Given the description of an element on the screen output the (x, y) to click on. 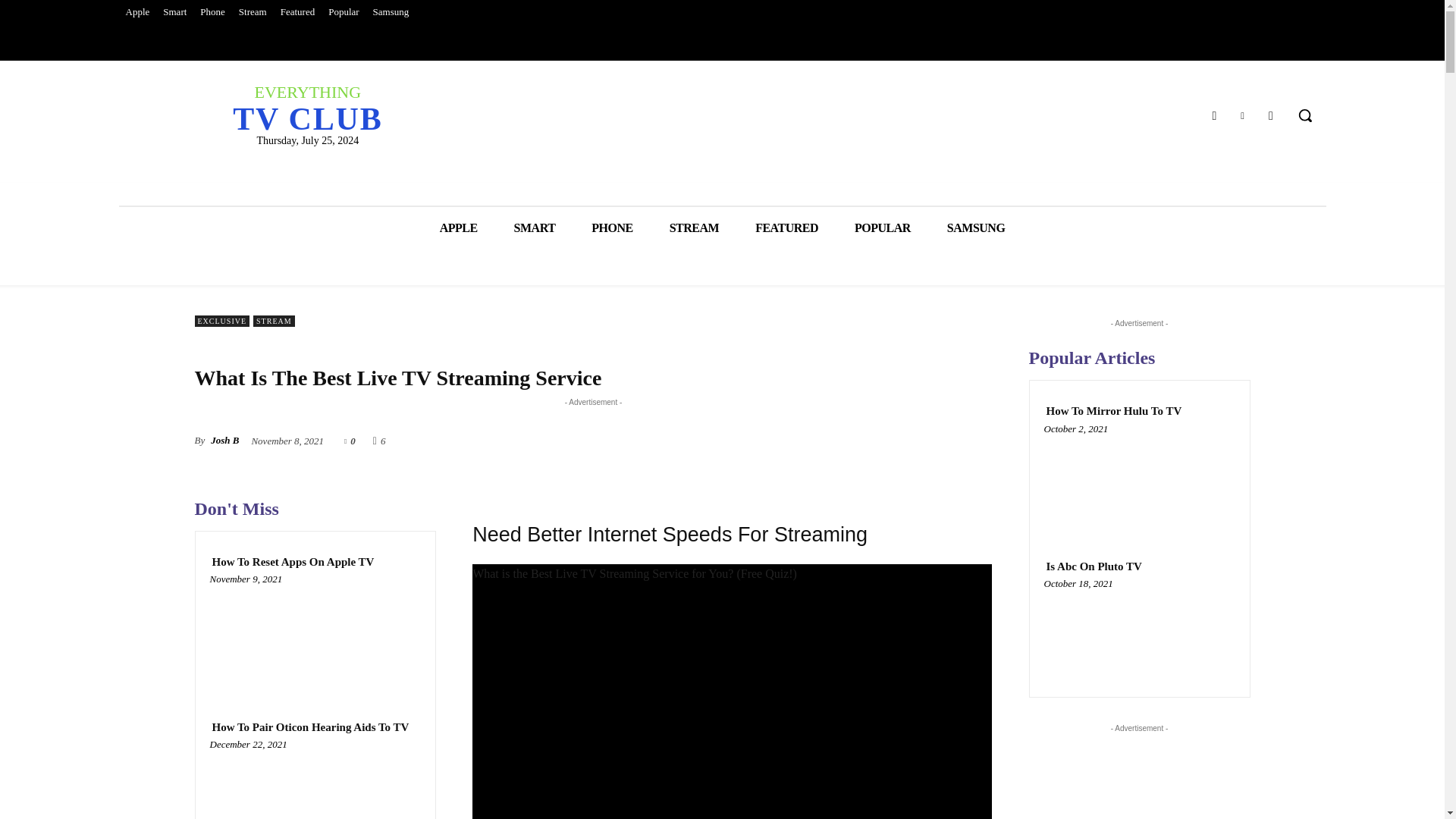
How To Reset Apps On Apple TV (292, 562)
Featured (297, 12)
Apple (136, 12)
POPULAR (881, 227)
PHONE (611, 227)
How To Reset Apps On Apple TV (314, 634)
Phone (306, 109)
FEATURED (212, 12)
SAMSUNG (785, 227)
APPLE (975, 227)
Twitter (459, 227)
How To Pair Oticon Hearing Aids To TV (1241, 115)
Stream (314, 783)
How To Pair Oticon Hearing Aids To TV (252, 12)
